Given the description of an element on the screen output the (x, y) to click on. 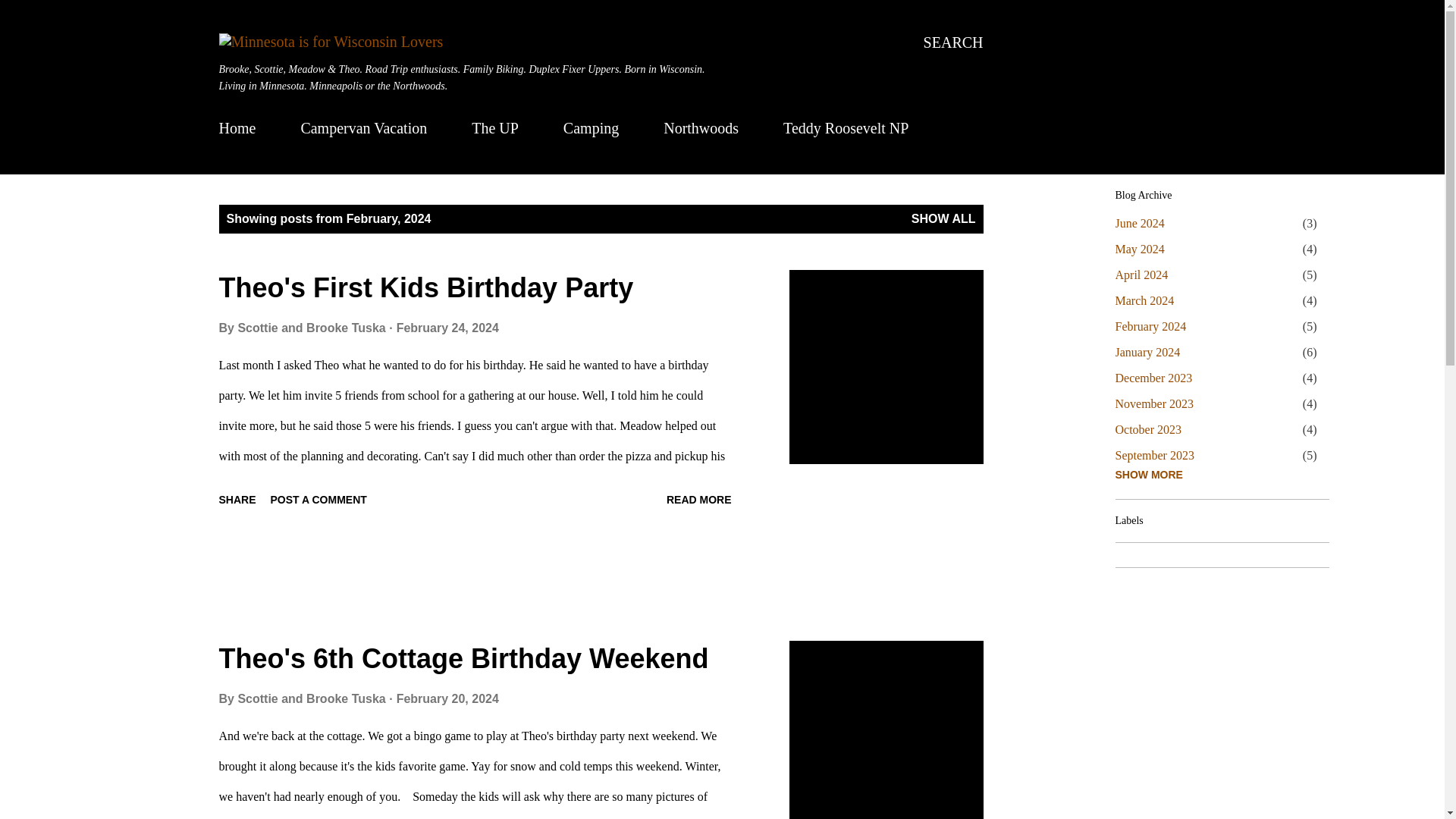
February 24, 2024 (447, 327)
Scottie and Brooke Tuska (312, 698)
Theo's First Kids Birthday Party (425, 287)
POST A COMMENT (318, 499)
author profile (312, 698)
READ MORE (699, 499)
permanent link (447, 698)
Northwoods (700, 127)
SEARCH (953, 42)
Camping (590, 127)
